Given the description of an element on the screen output the (x, y) to click on. 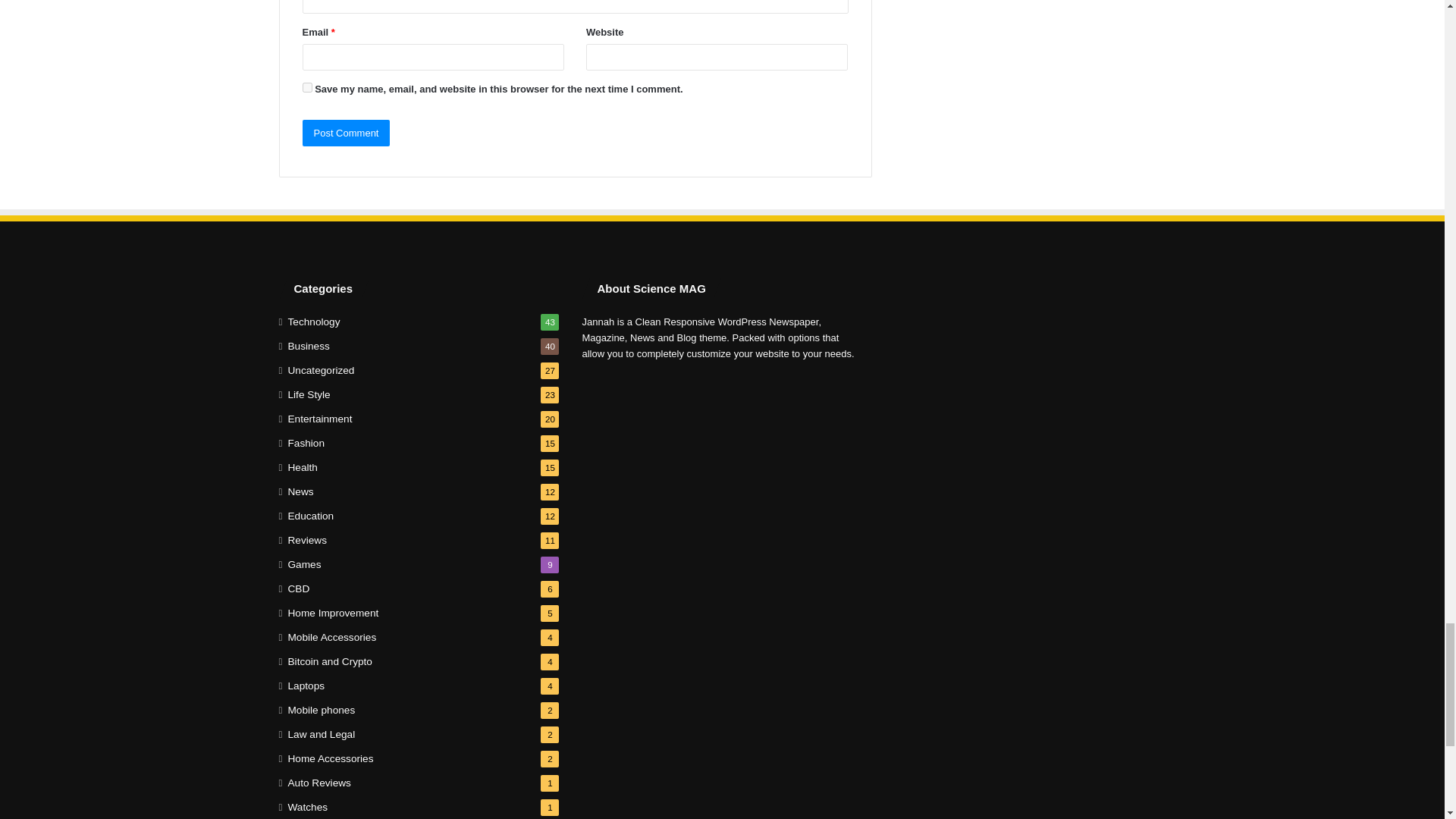
yes (306, 87)
Post Comment (345, 132)
